Given the description of an element on the screen output the (x, y) to click on. 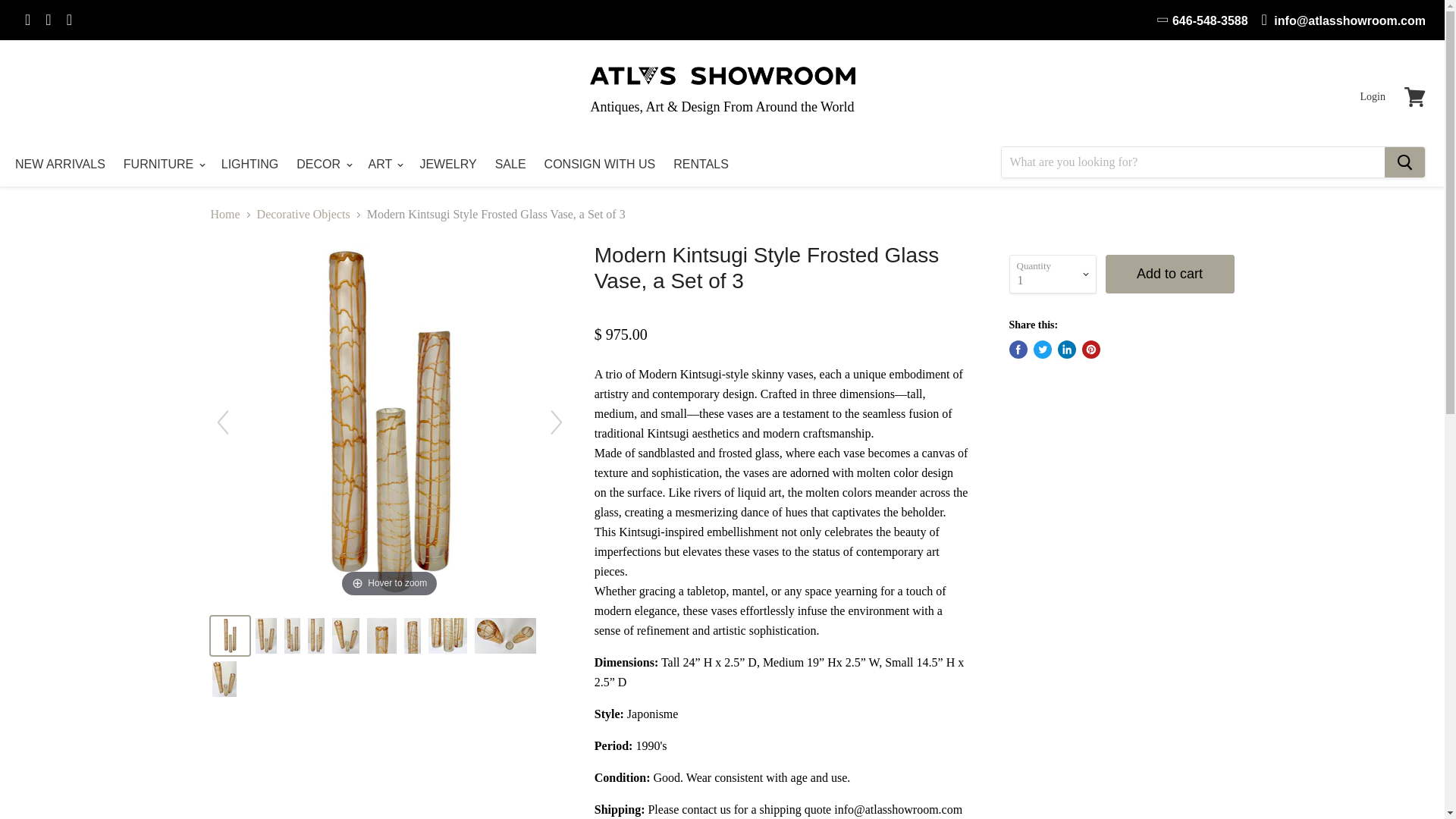
DECOR (322, 164)
Login (1372, 97)
LIGHTING (250, 164)
Next (556, 422)
ART (385, 164)
FURNITURE (163, 164)
View cart (1414, 96)
646-548-3588 (1202, 19)
NEW ARRIVALS (60, 164)
Previous (222, 422)
